Given the description of an element on the screen output the (x, y) to click on. 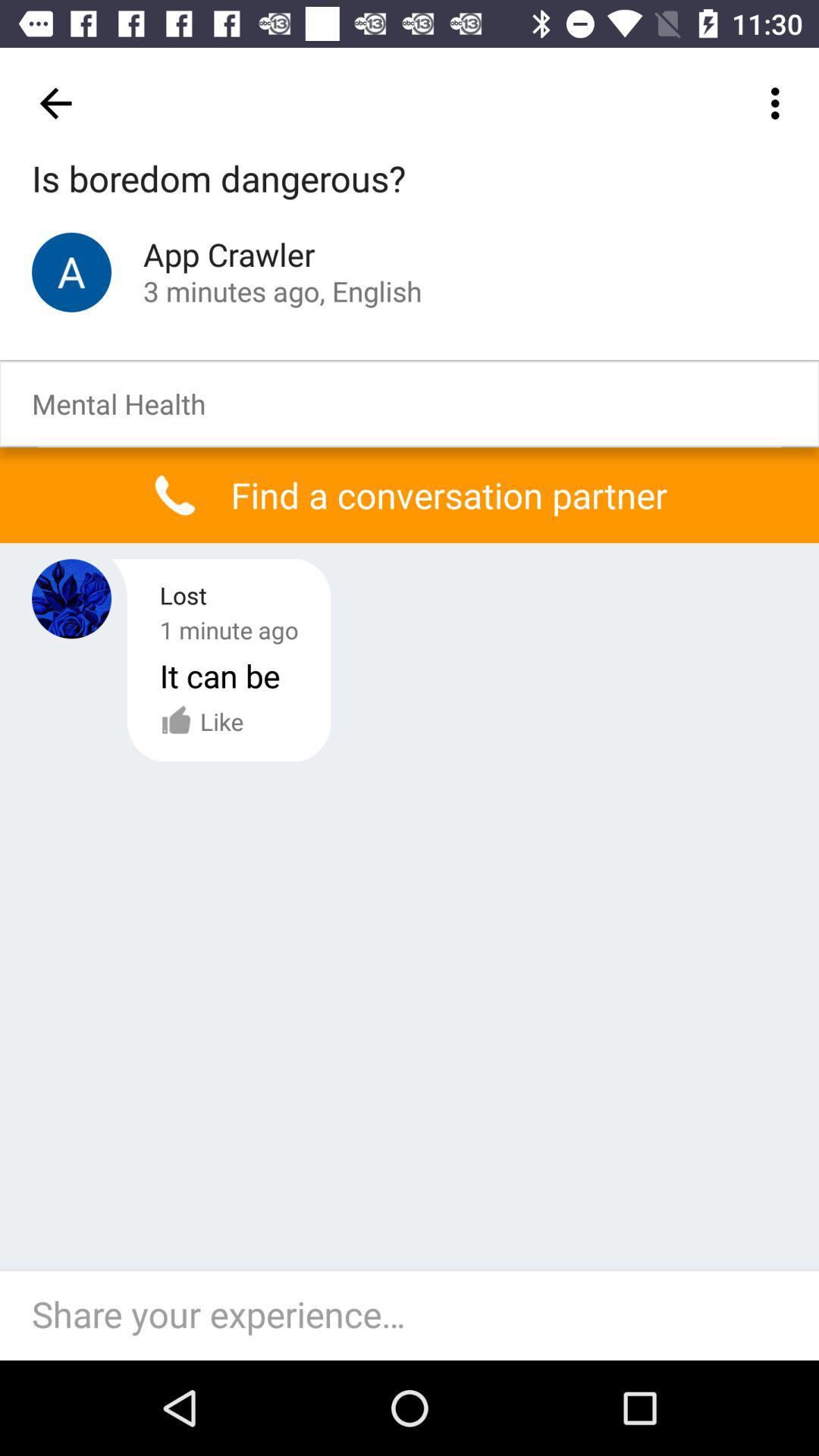
swipe until like icon (201, 721)
